Given the description of an element on the screen output the (x, y) to click on. 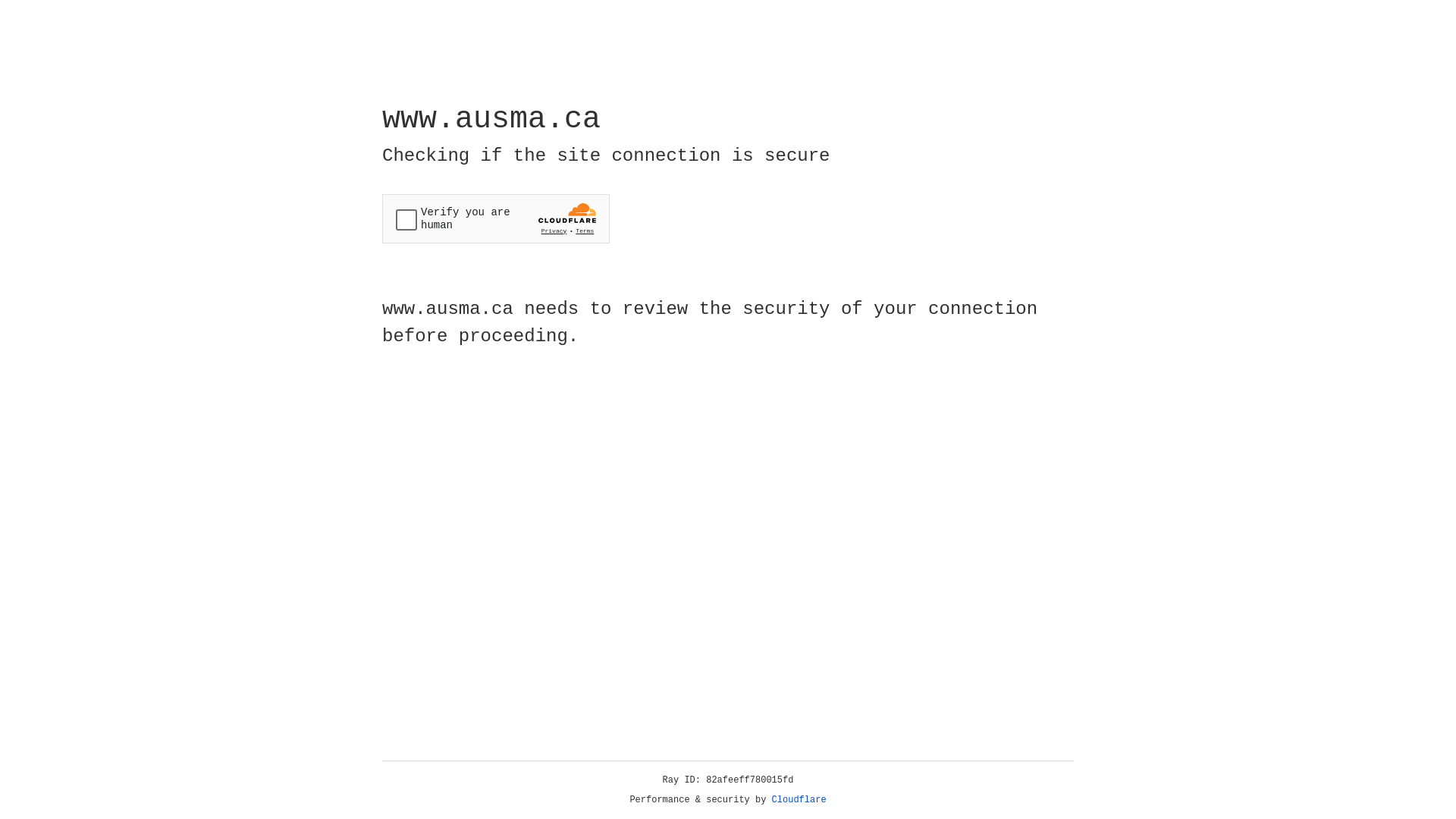
Cloudflare Element type: text (798, 799)
Widget containing a Cloudflare security challenge Element type: hover (495, 218)
